Given the description of an element on the screen output the (x, y) to click on. 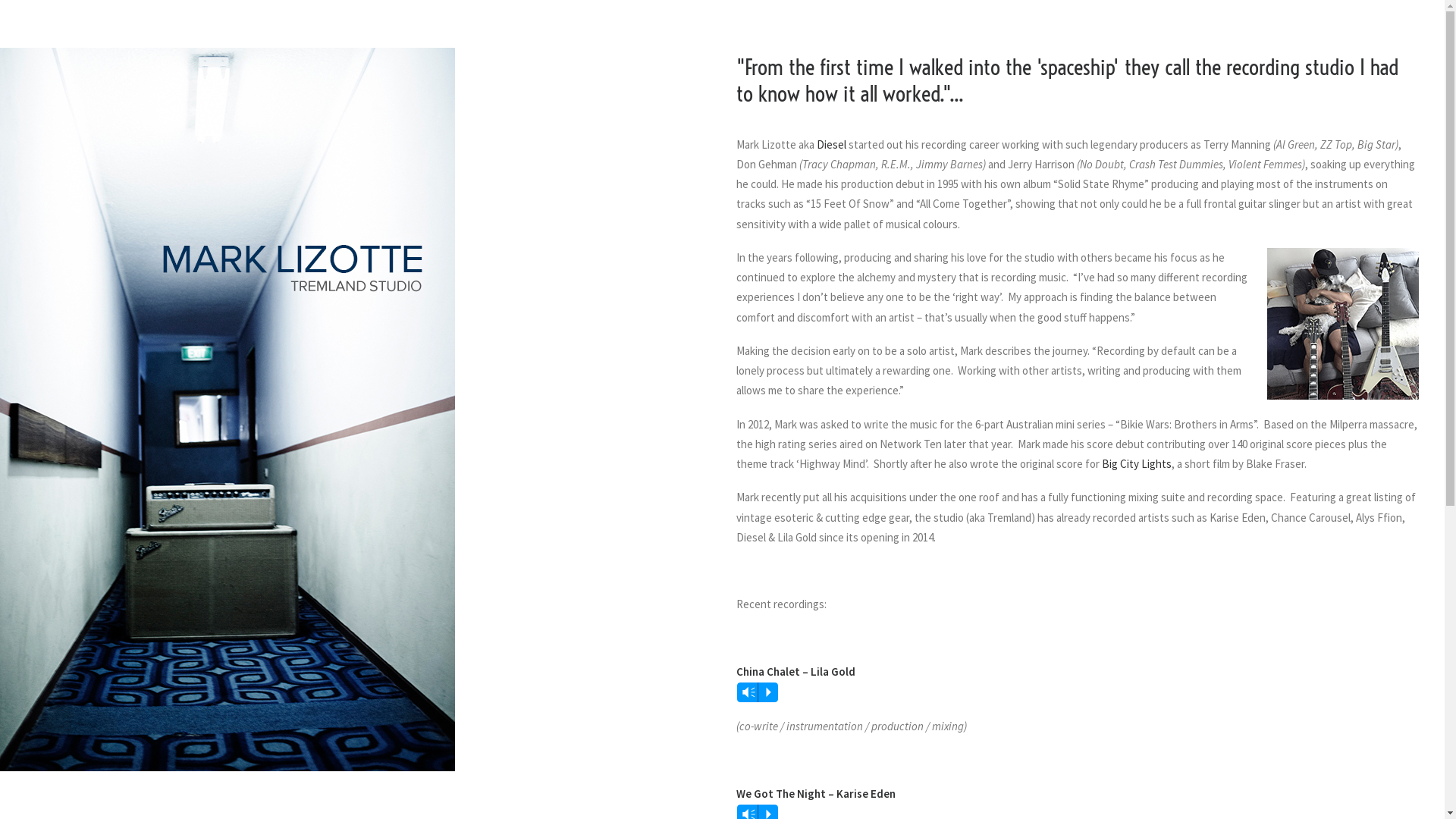
Diesel Element type: text (830, 144)
Big City Lights Element type: text (1135, 463)
